Given the description of an element on the screen output the (x, y) to click on. 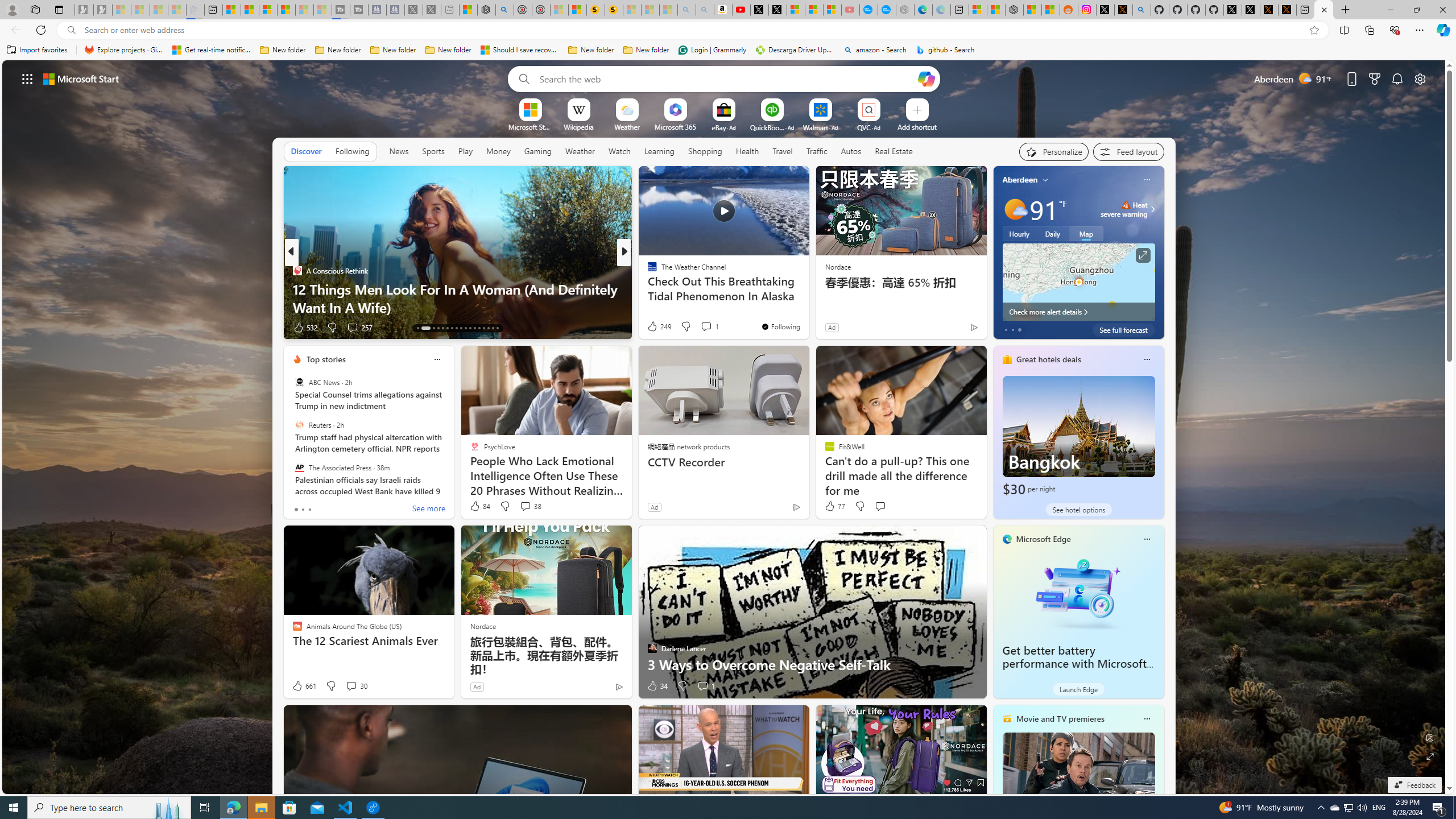
AutomationID: tab-25 (478, 328)
AutomationID: tab-23 (470, 328)
Favorites bar (728, 49)
Shanghai, China Weather trends | Microsoft Weather (1050, 9)
45 Like (652, 327)
View comments 38 Comment (530, 505)
Daily (1052, 233)
